Given the description of an element on the screen output the (x, y) to click on. 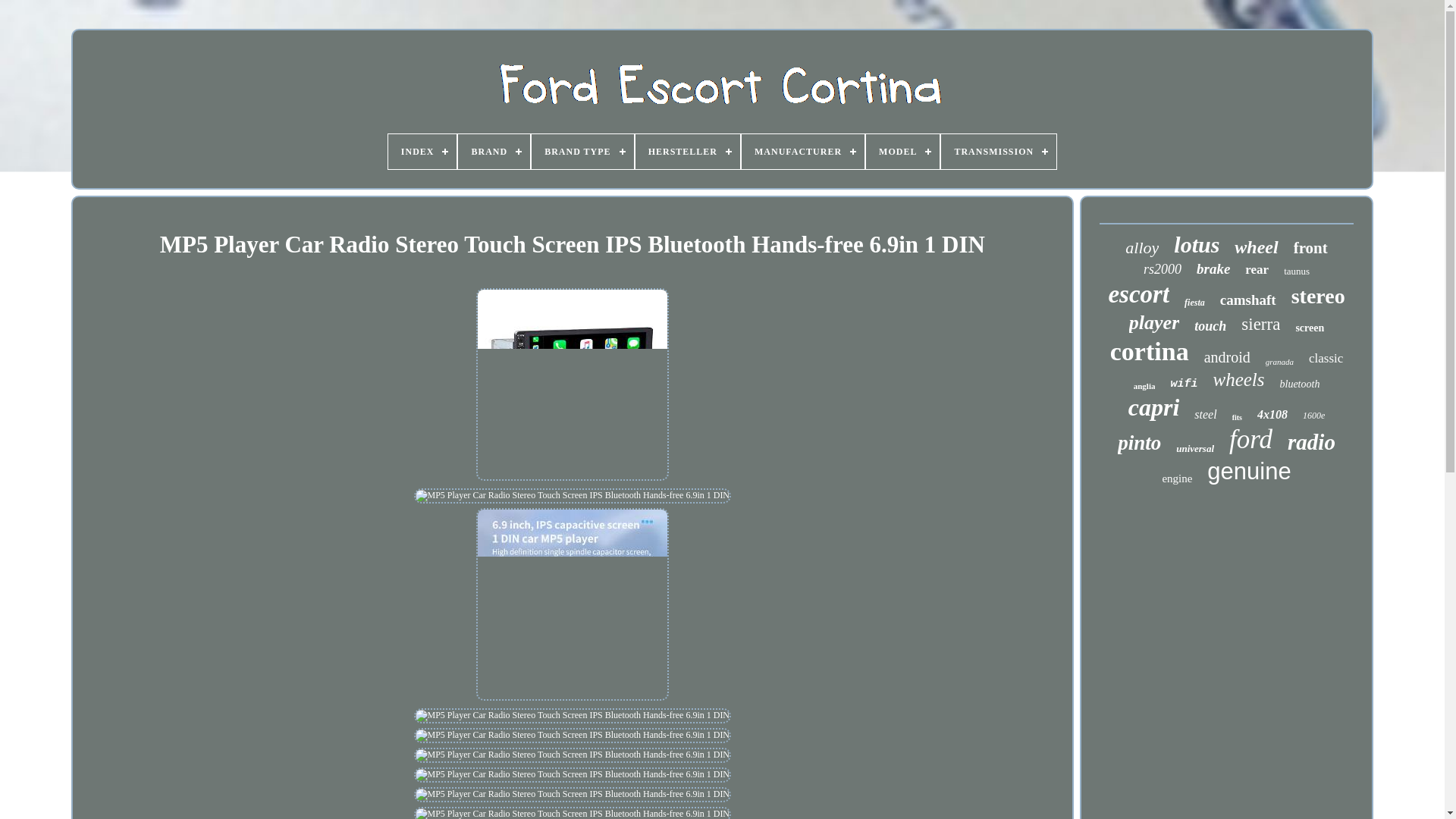
INDEX (422, 151)
BRAND TYPE (582, 151)
HERSTELLER (686, 151)
BRAND (493, 151)
